Given the description of an element on the screen output the (x, y) to click on. 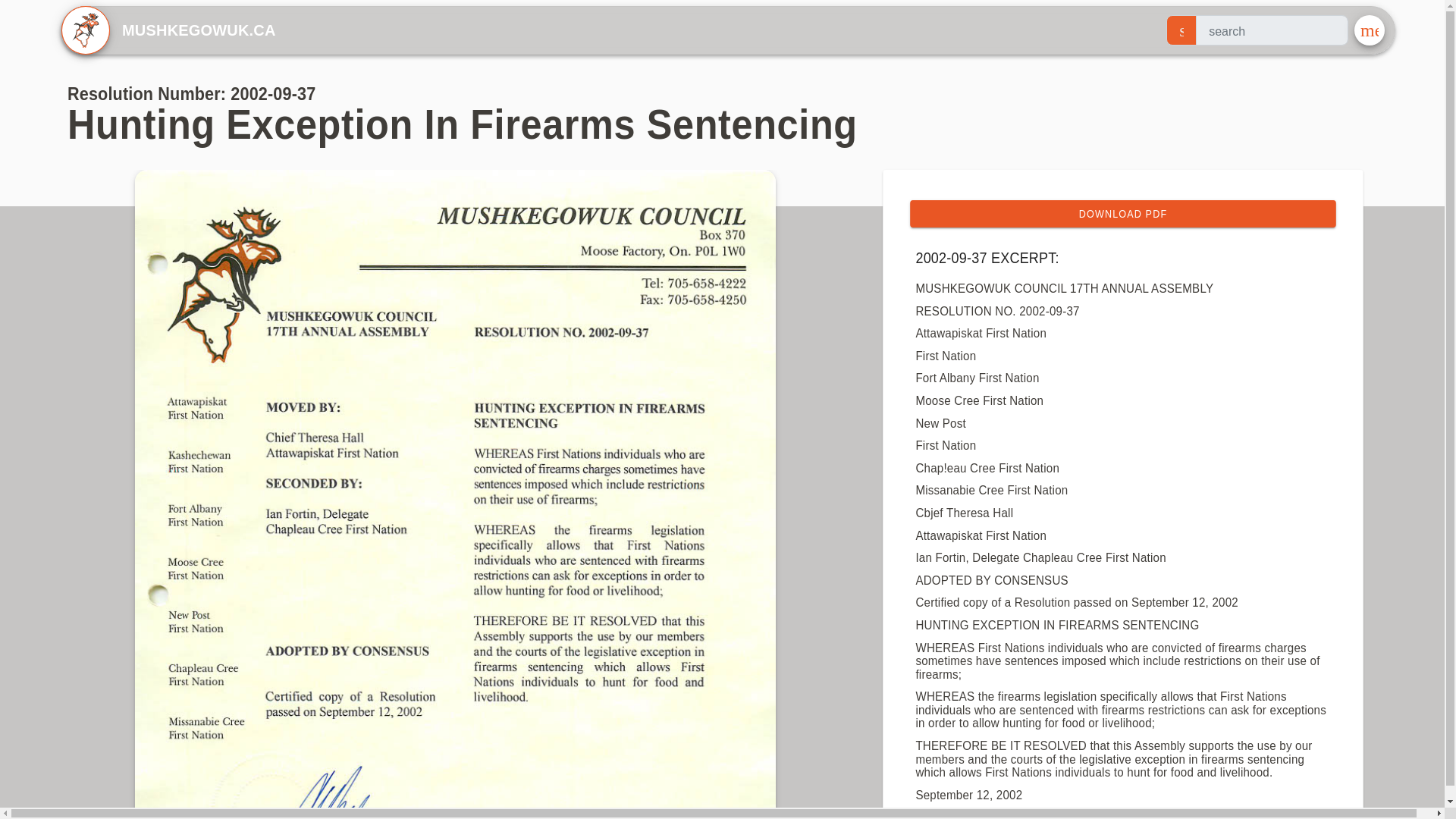
DOWNLOAD PDF (1146, 213)
menu (1369, 30)
